Given the description of an element on the screen output the (x, y) to click on. 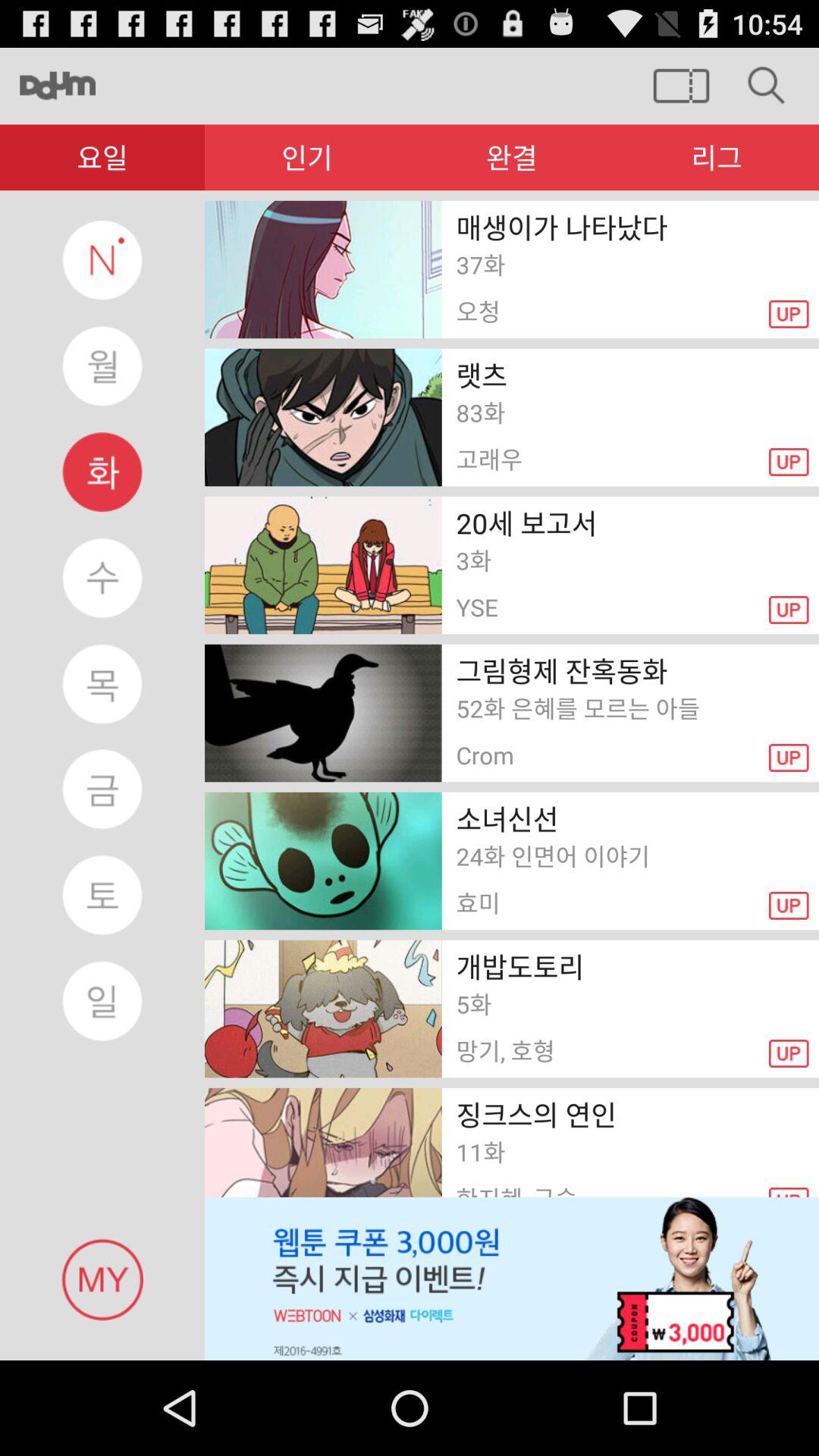
choose the last symbol in red color bar (716, 156)
click on  seventh round button from top (102, 894)
click on the second up button from the top (794, 467)
